Given the description of an element on the screen output the (x, y) to click on. 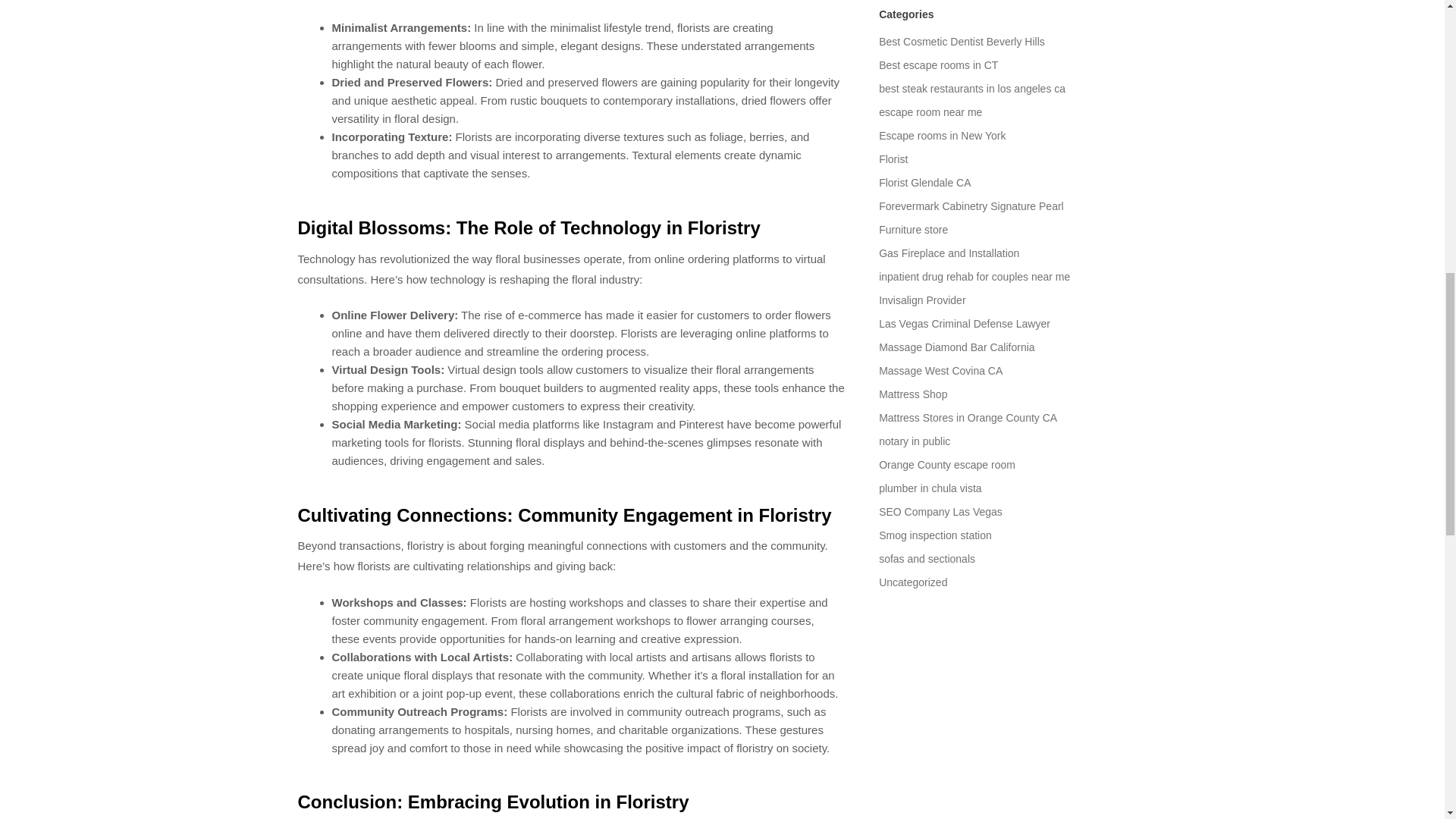
Best escape rooms in CT (938, 64)
best steak restaurants in los angeles ca (972, 88)
escape room near me (930, 111)
Massage Diamond Bar California (956, 346)
Florist Glendale CA (925, 182)
Best Cosmetic Dentist Beverly Hills (962, 41)
Massage West Covina CA (941, 370)
Las Vegas Criminal Defense Lawyer (964, 323)
Gas Fireplace and Installation (949, 253)
Escape rooms in New York (942, 135)
Florist (893, 159)
Forevermark Cabinetry Signature Pearl (971, 205)
Invisalign Provider (922, 300)
Furniture store (913, 229)
inpatient drug rehab for couples near me (974, 276)
